Given the description of an element on the screen output the (x, y) to click on. 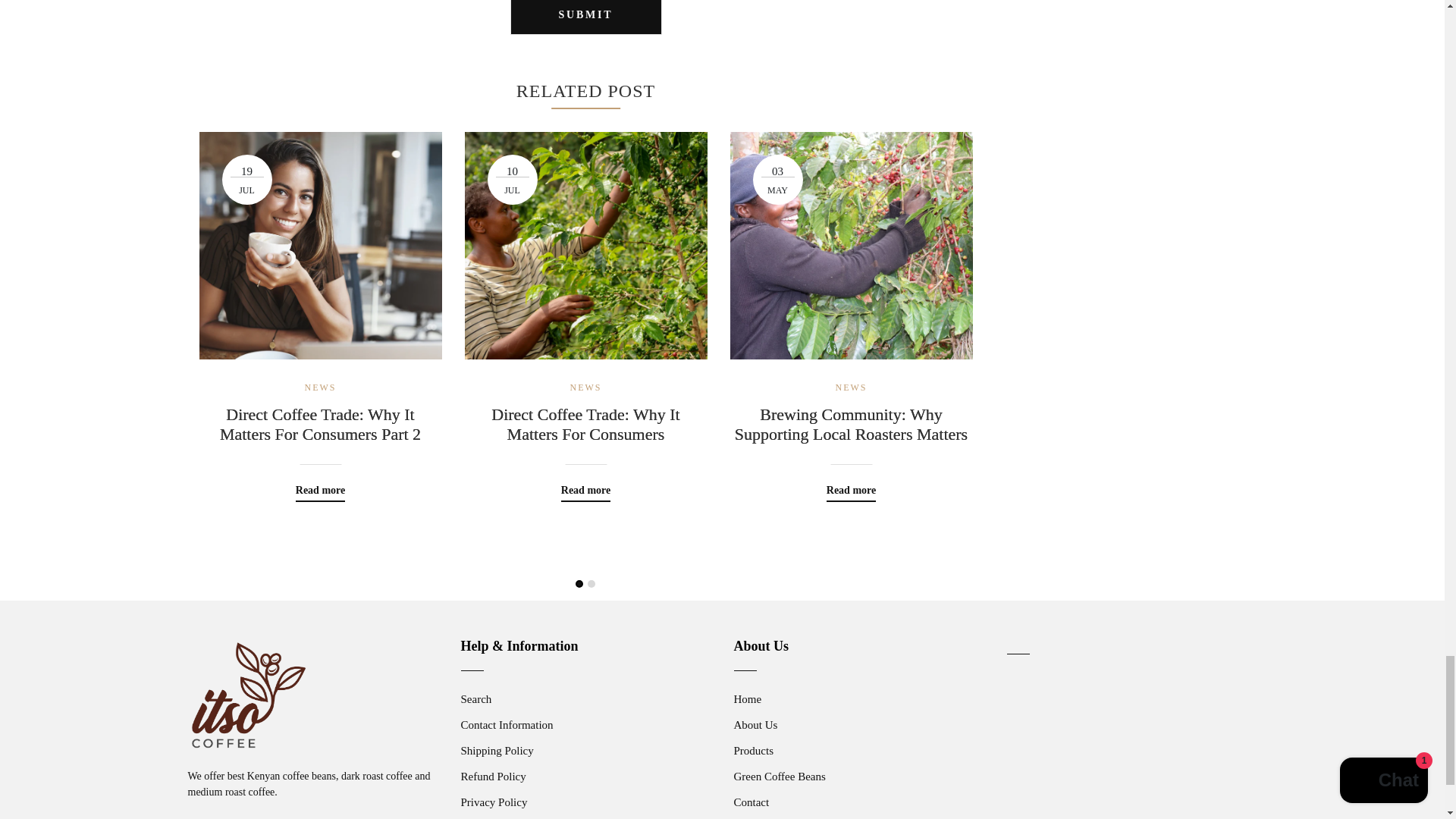
Direct Coffee Trade: Why It Matters for Consumers Part 2 (319, 424)
Brewing Community: Why Supporting Local Roasters Matters (850, 424)
Direct Coffee Trade: Why It Matters for Consumers (585, 424)
Submit (585, 17)
